Given the description of an element on the screen output the (x, y) to click on. 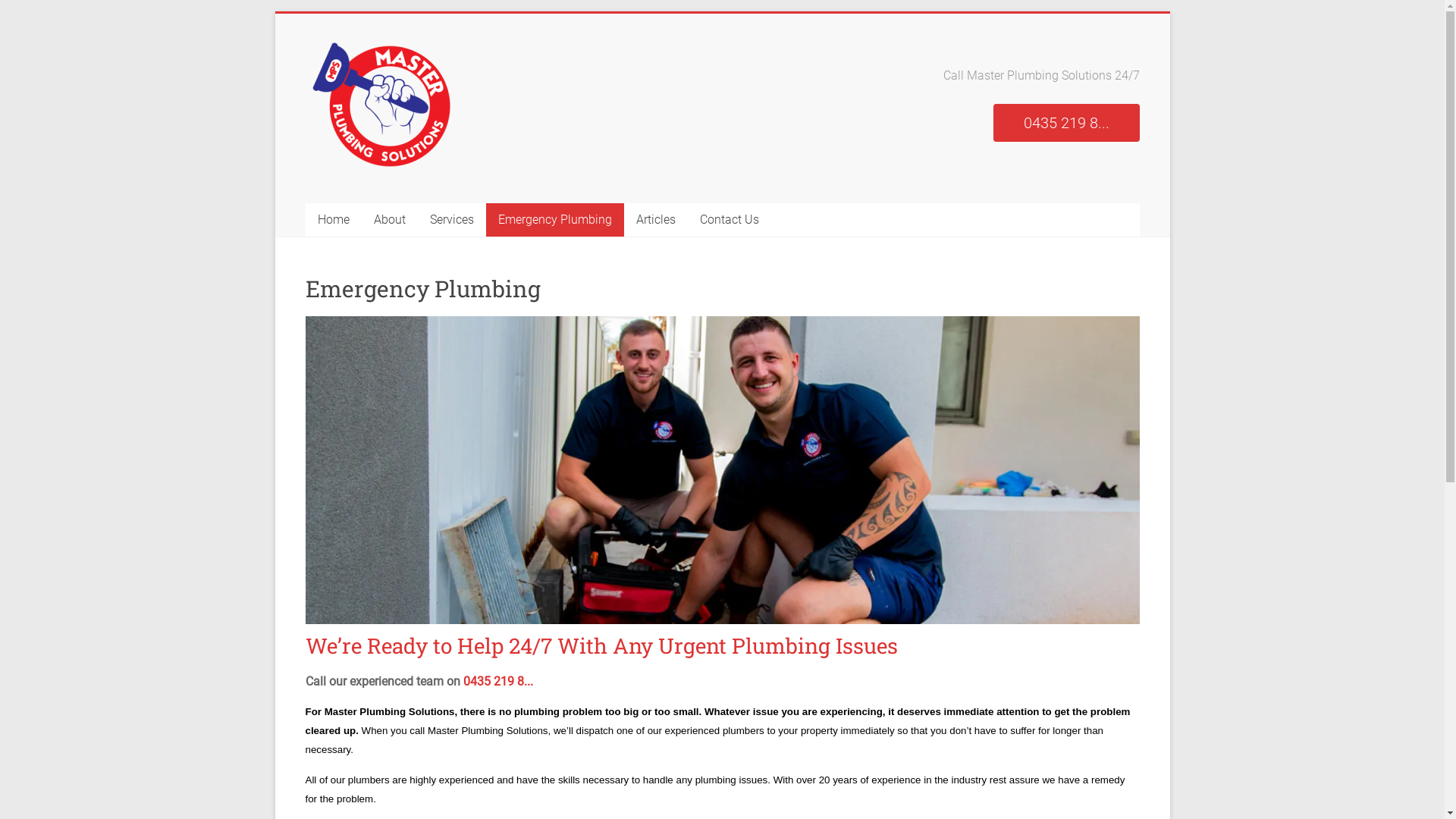
Services Element type: text (451, 219)
0435 219 8... Element type: text (497, 681)
Home Element type: text (332, 219)
0435 219 8... Element type: text (1066, 122)
About Element type: text (388, 219)
Contact Us Element type: text (728, 219)
Emergency Plumbing Element type: text (554, 219)
Articles Element type: text (655, 219)
